Given the description of an element on the screen output the (x, y) to click on. 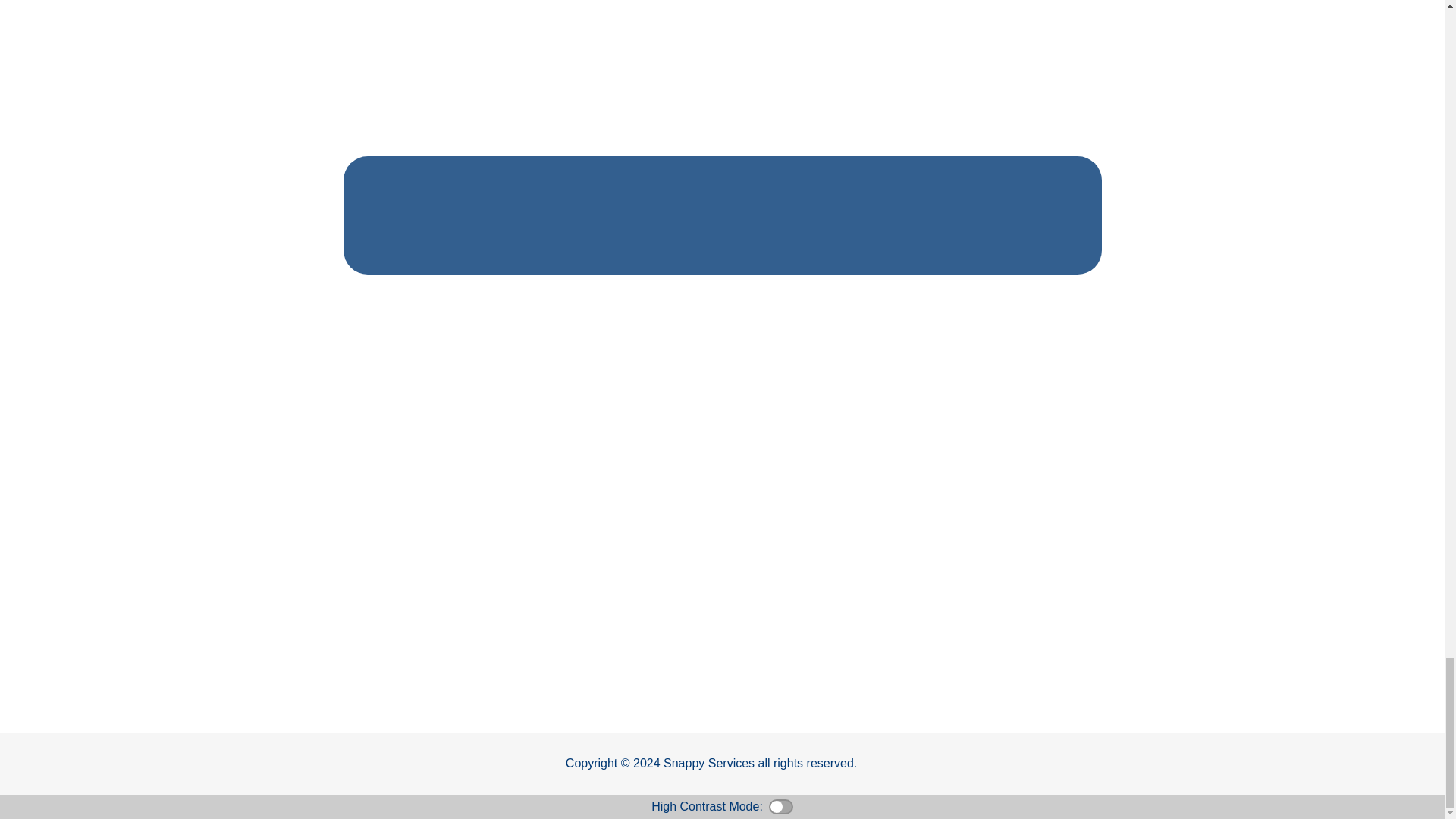
LinkedIn (359, 763)
Facebook (245, 763)
YouTube (321, 763)
